Given the description of an element on the screen output the (x, y) to click on. 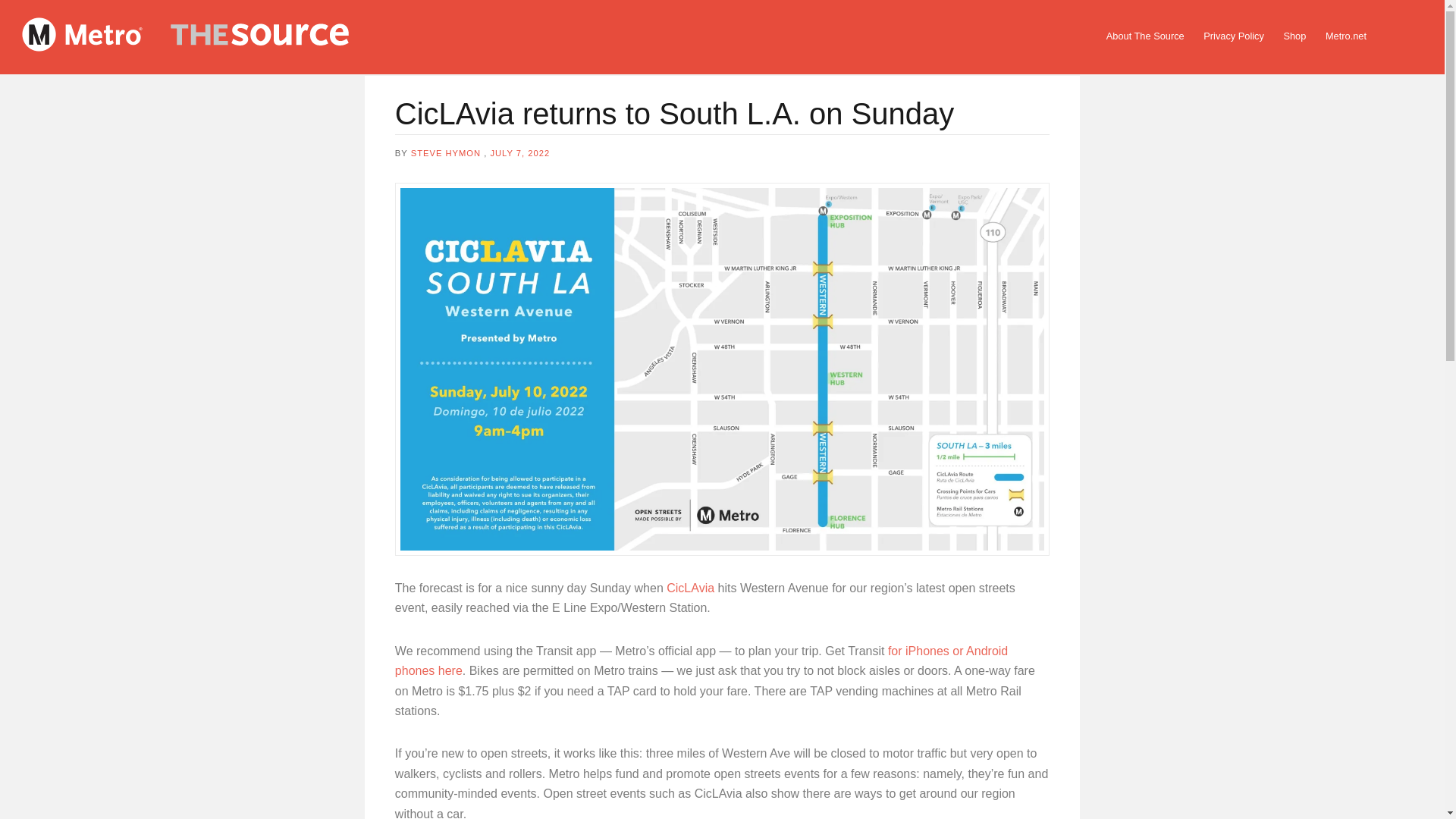
The Source (211, 37)
for iPhones or Android phones here (700, 660)
Privacy Policy (1233, 36)
View all posts by Steve Hymon (445, 153)
STEVE HYMON (445, 153)
7:00 pm (519, 153)
About The Source (1144, 36)
Shop (1294, 36)
CicLAvia (690, 587)
JULY 7, 2022 (519, 153)
Metro.net (1345, 36)
